Given the description of an element on the screen output the (x, y) to click on. 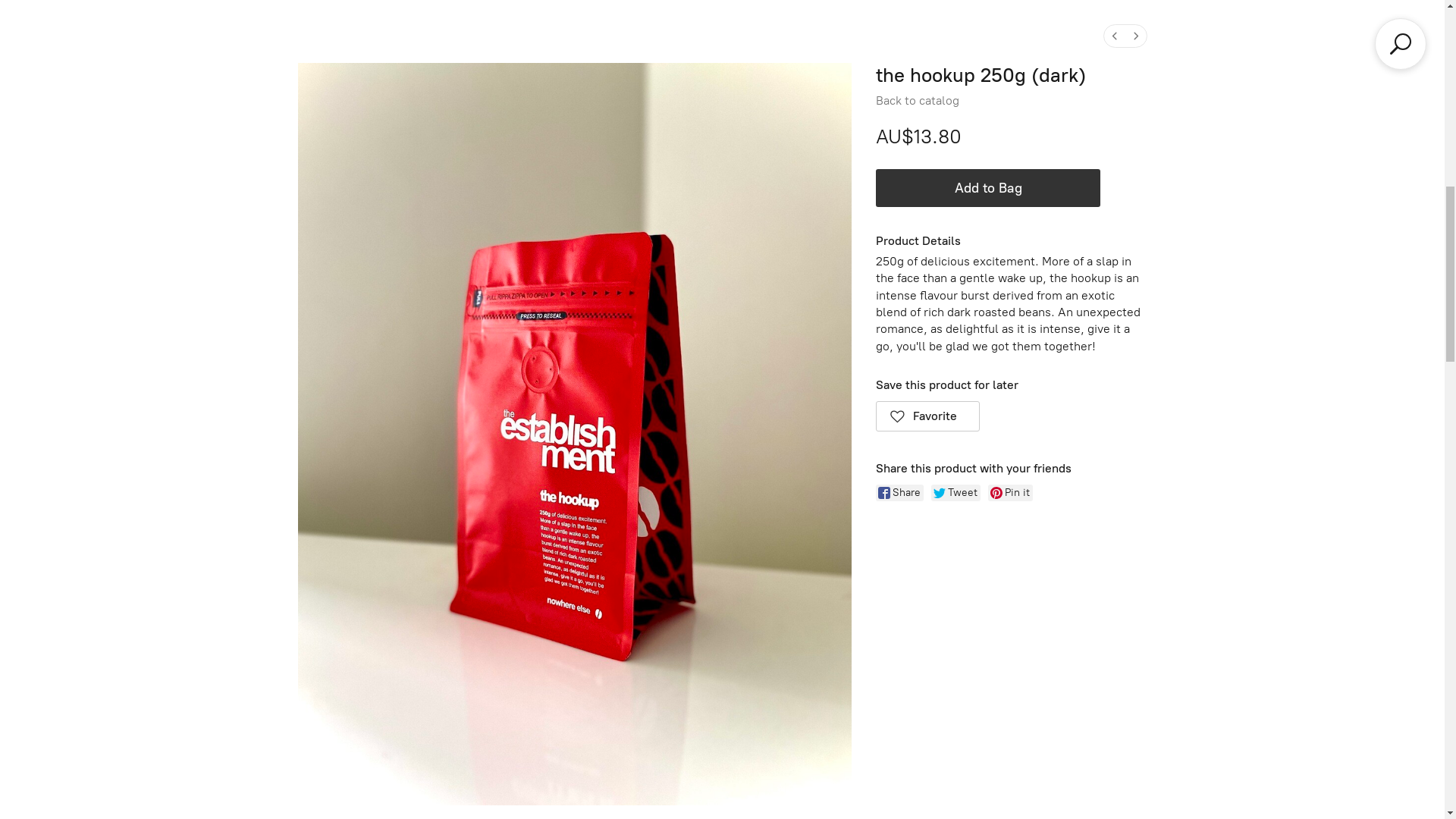
Get directions Element type: text (1171, 28)
About Element type: text (103, 29)
Shop Now Element type: text (722, 539)
Contact us Element type: text (247, 29)
Location Element type: text (168, 29)
Business hours Element type: text (1284, 28)
Store Element type: text (45, 29)
